Given the description of an element on the screen output the (x, y) to click on. 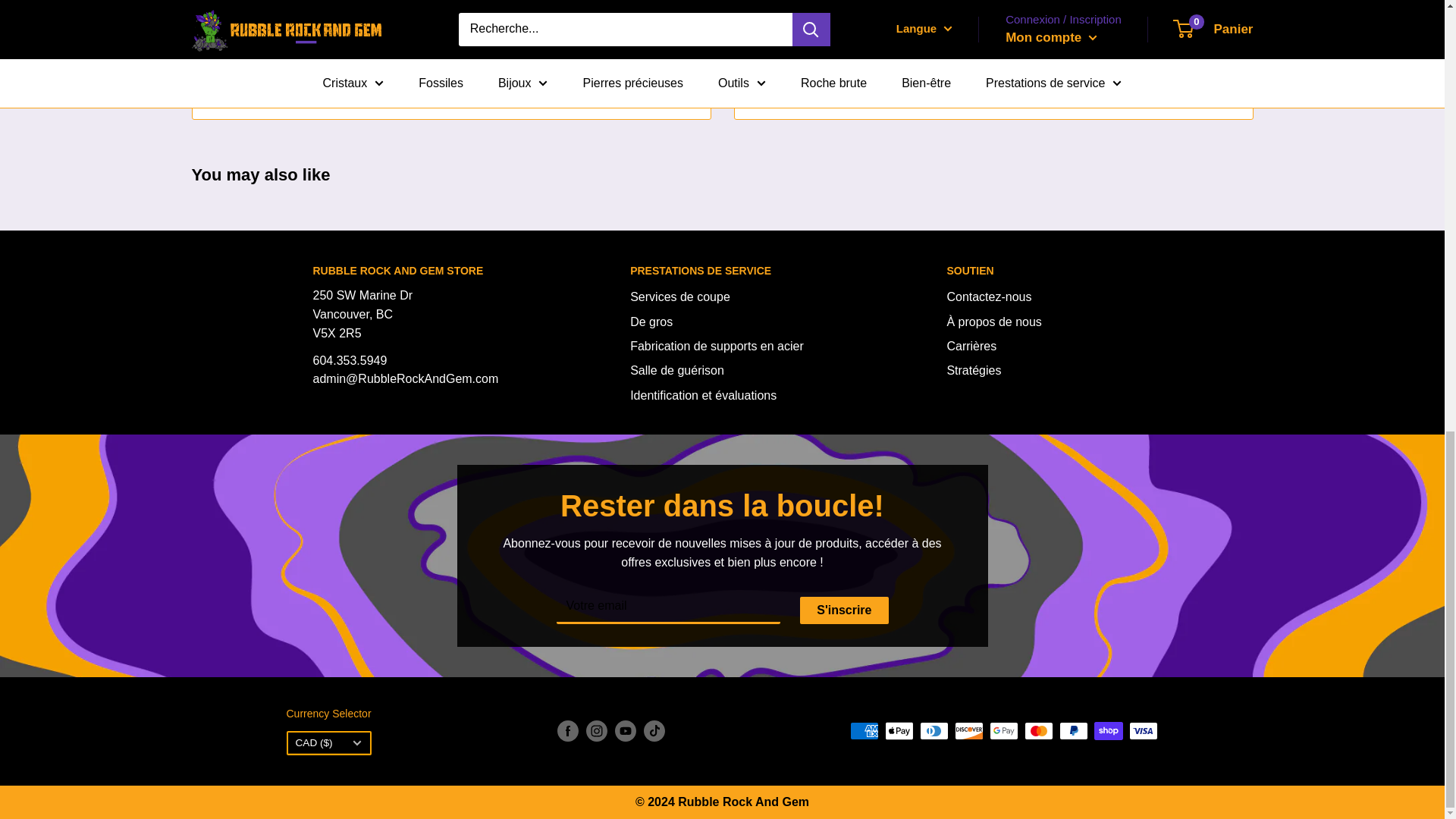
Rubble Rock and Gem Phone Number (350, 359)
